Given the description of an element on the screen output the (x, y) to click on. 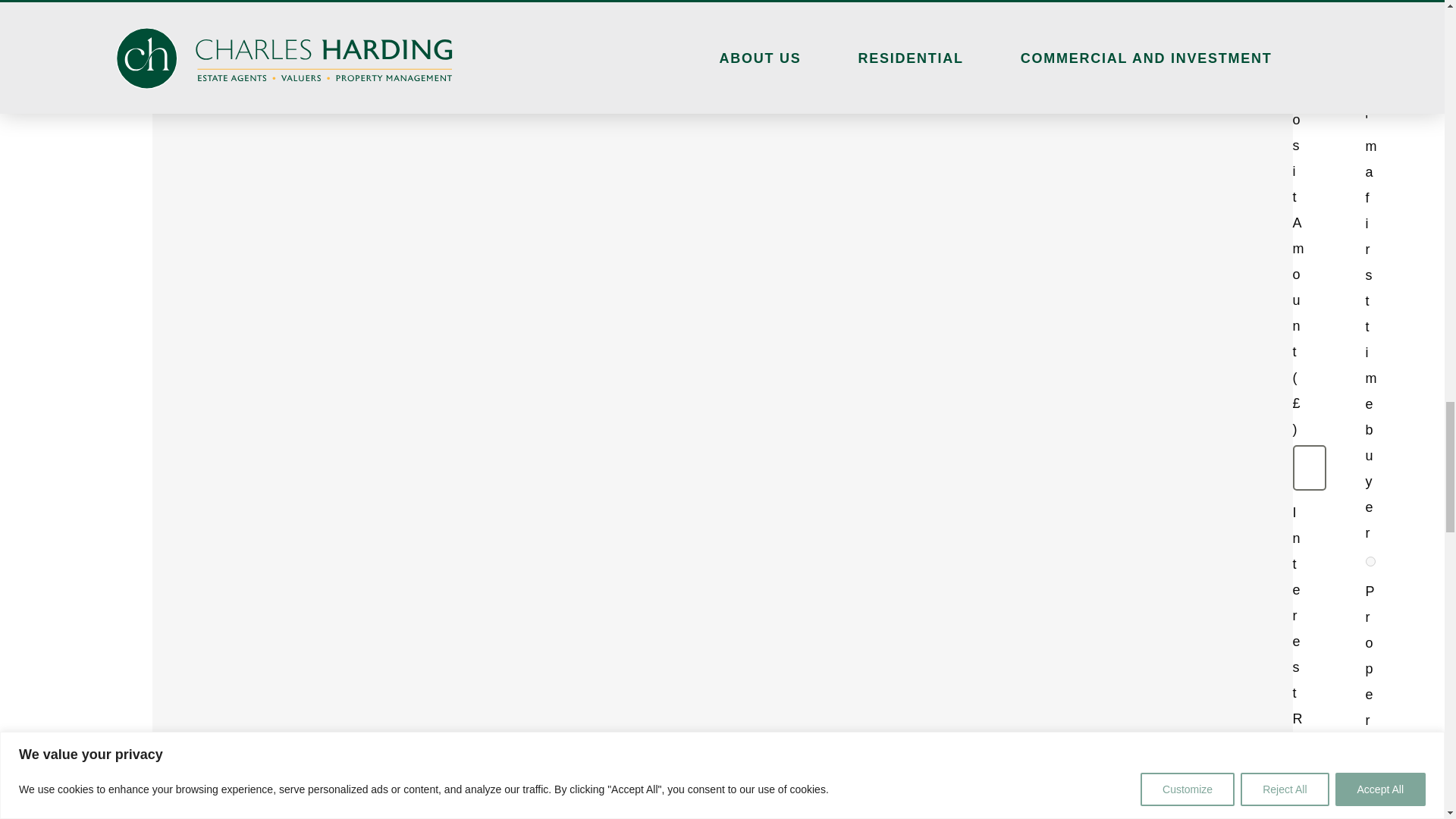
CSS (1369, 561)
HTML (1369, 64)
